Given the description of an element on the screen output the (x, y) to click on. 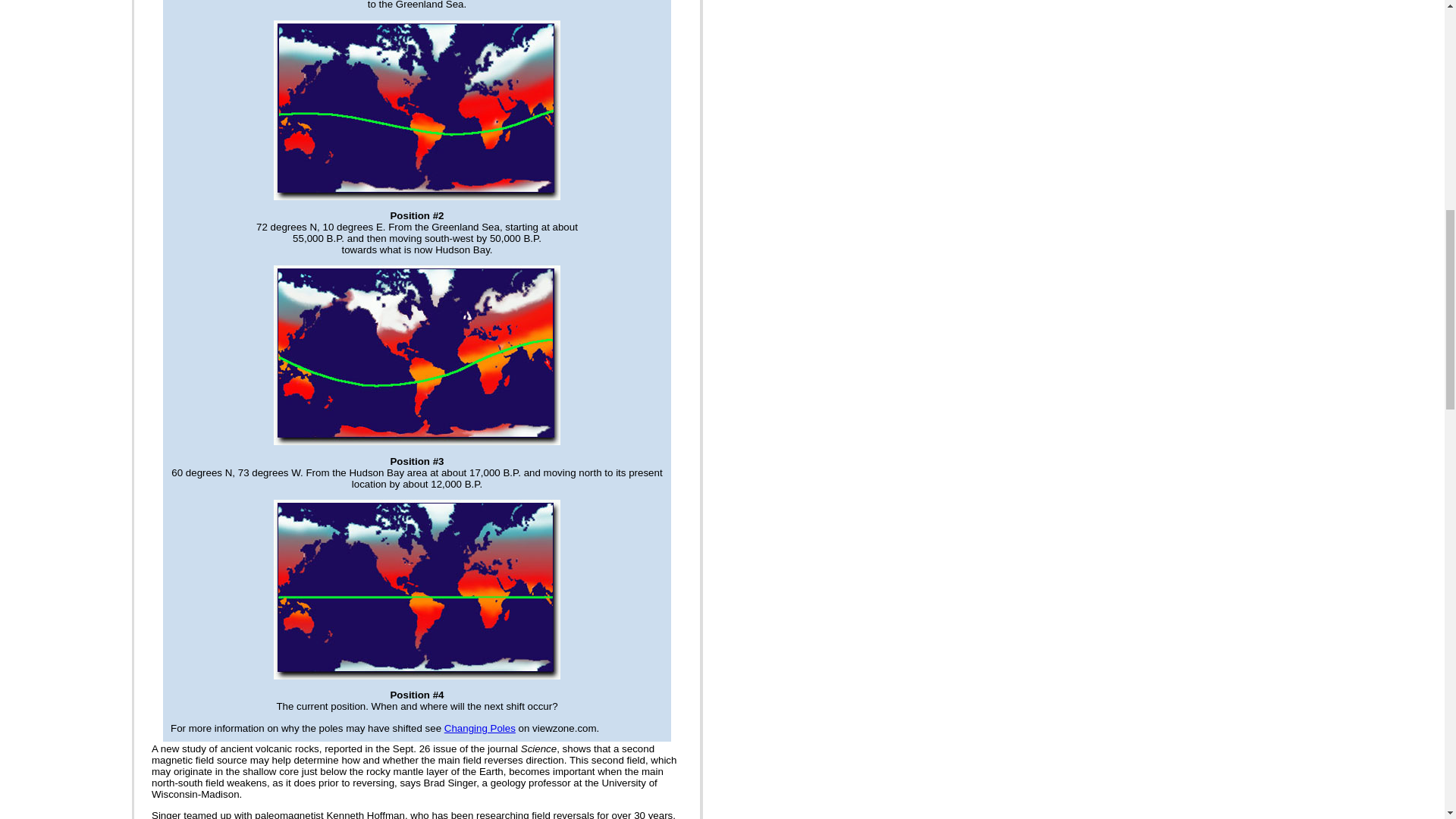
Changing Poles (479, 727)
